Given the description of an element on the screen output the (x, y) to click on. 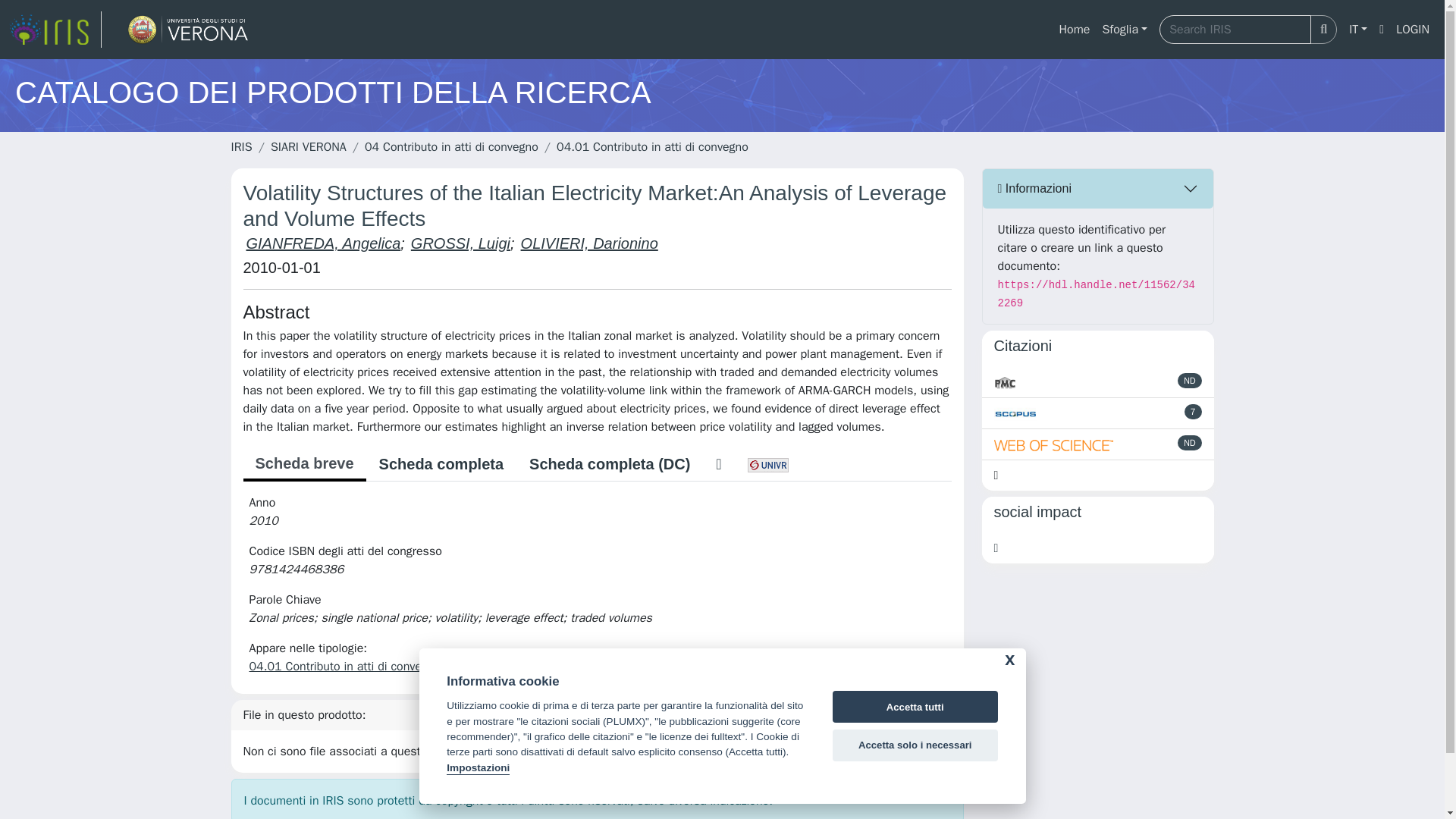
IT (1357, 29)
Aiuto (1381, 29)
OLIVIERI, Darionino (589, 243)
aggiornato in data 08-07-2024 22:34 (1193, 411)
SIARI VERONA (308, 146)
04.01 Contributo in atti di convegno (344, 666)
04 Contributo in atti di convegno (451, 146)
 Informazioni (1097, 188)
04.01 Contributo in atti di convegno (652, 146)
GIANFREDA, Angelica (323, 243)
GROSSI, Luigi (460, 243)
LOGIN (1412, 29)
Scheda breve (304, 464)
Sfoglia (1124, 29)
Home (1074, 29)
